Given the description of an element on the screen output the (x, y) to click on. 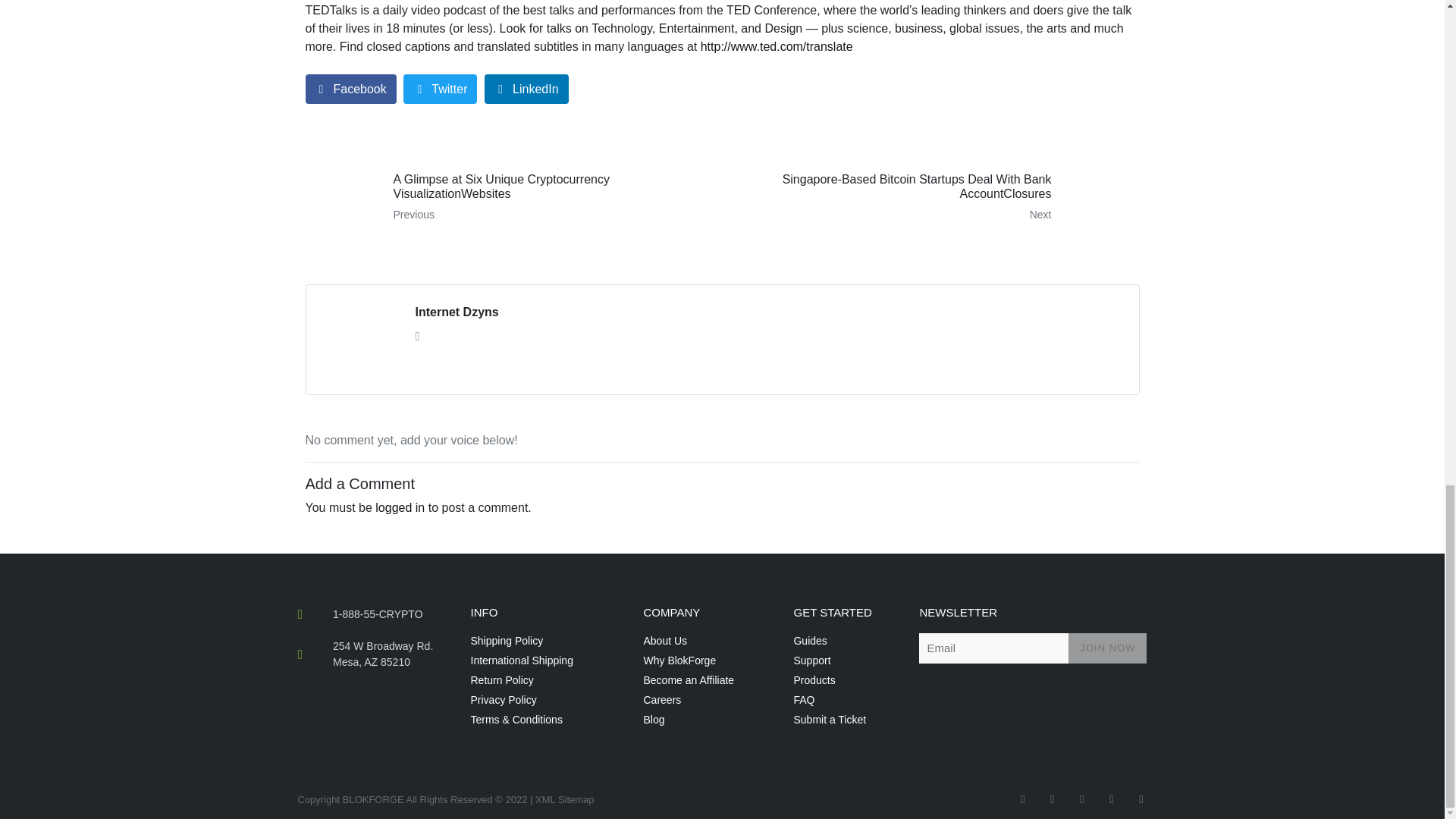
A Glimpse at Six Unique Cryptocurrency VisualizationWebsites (508, 197)
Join Now (1107, 648)
